Given the description of an element on the screen output the (x, y) to click on. 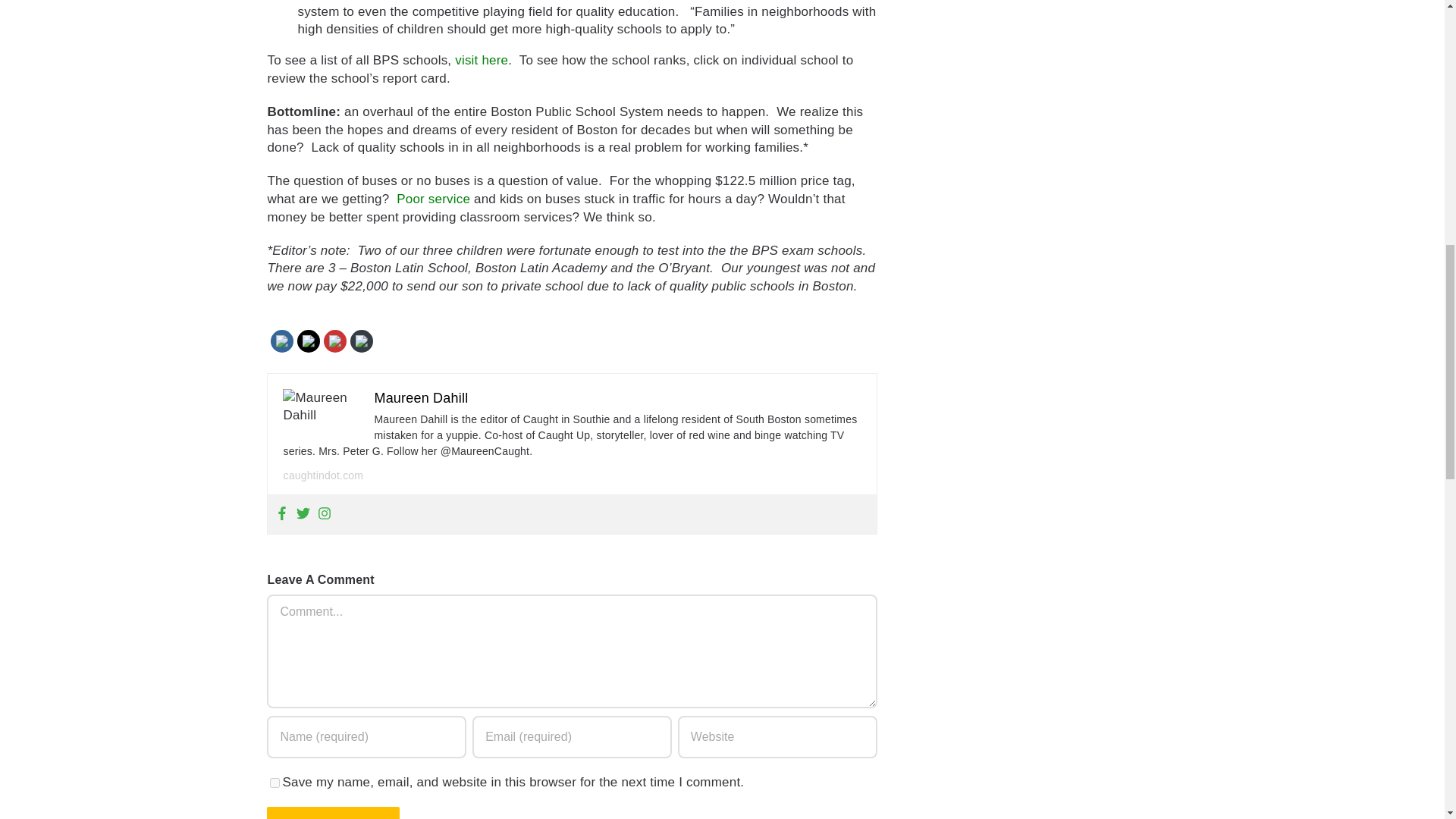
yes (274, 782)
Twitter (308, 341)
Post Comment (332, 812)
Facebook (282, 341)
